Given the description of an element on the screen output the (x, y) to click on. 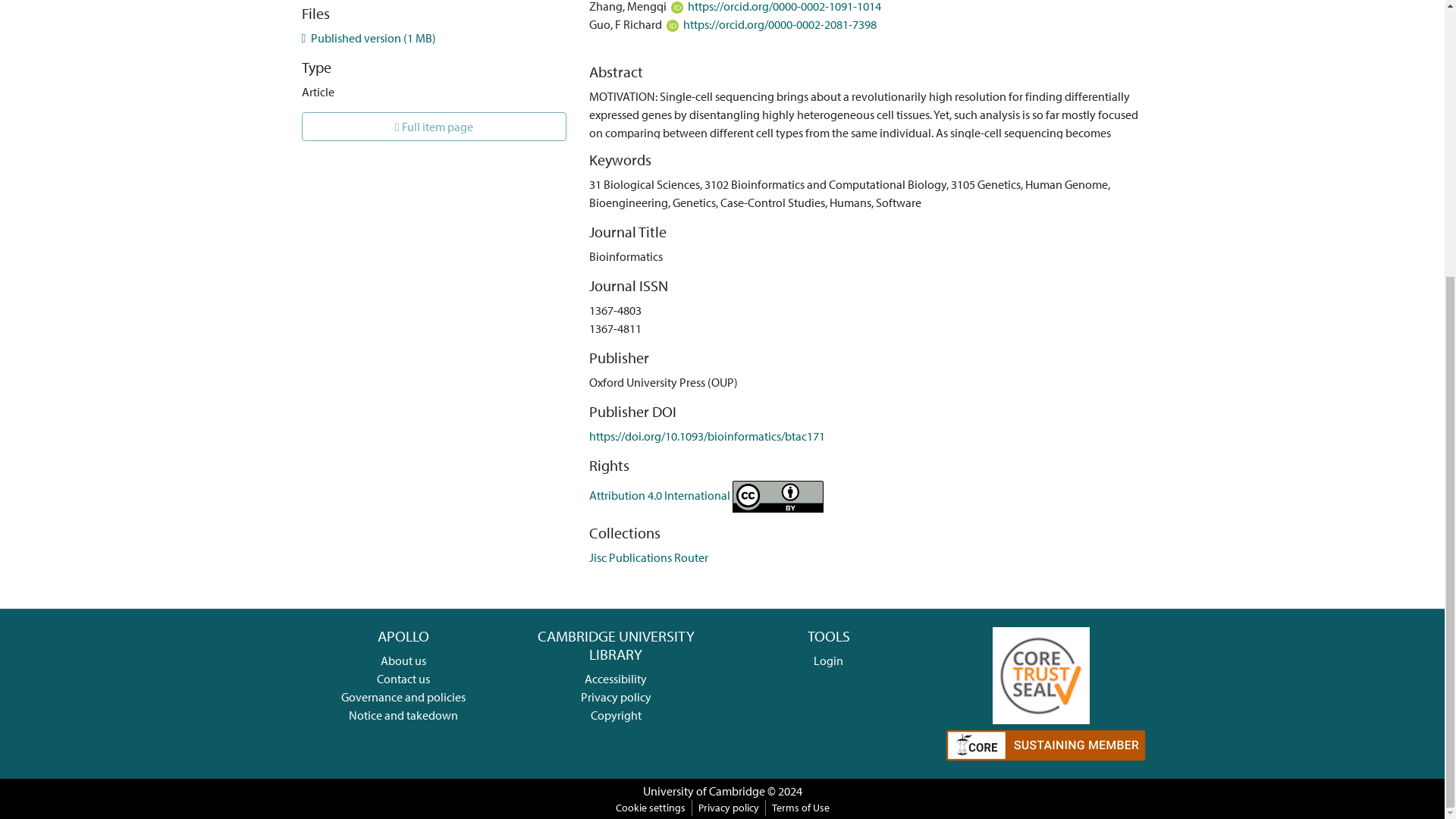
Full item page (434, 126)
Jisc Publications Router (648, 557)
Apollo CTS full application (1040, 673)
Attribution 4.0 International (706, 494)
